Given the description of an element on the screen output the (x, y) to click on. 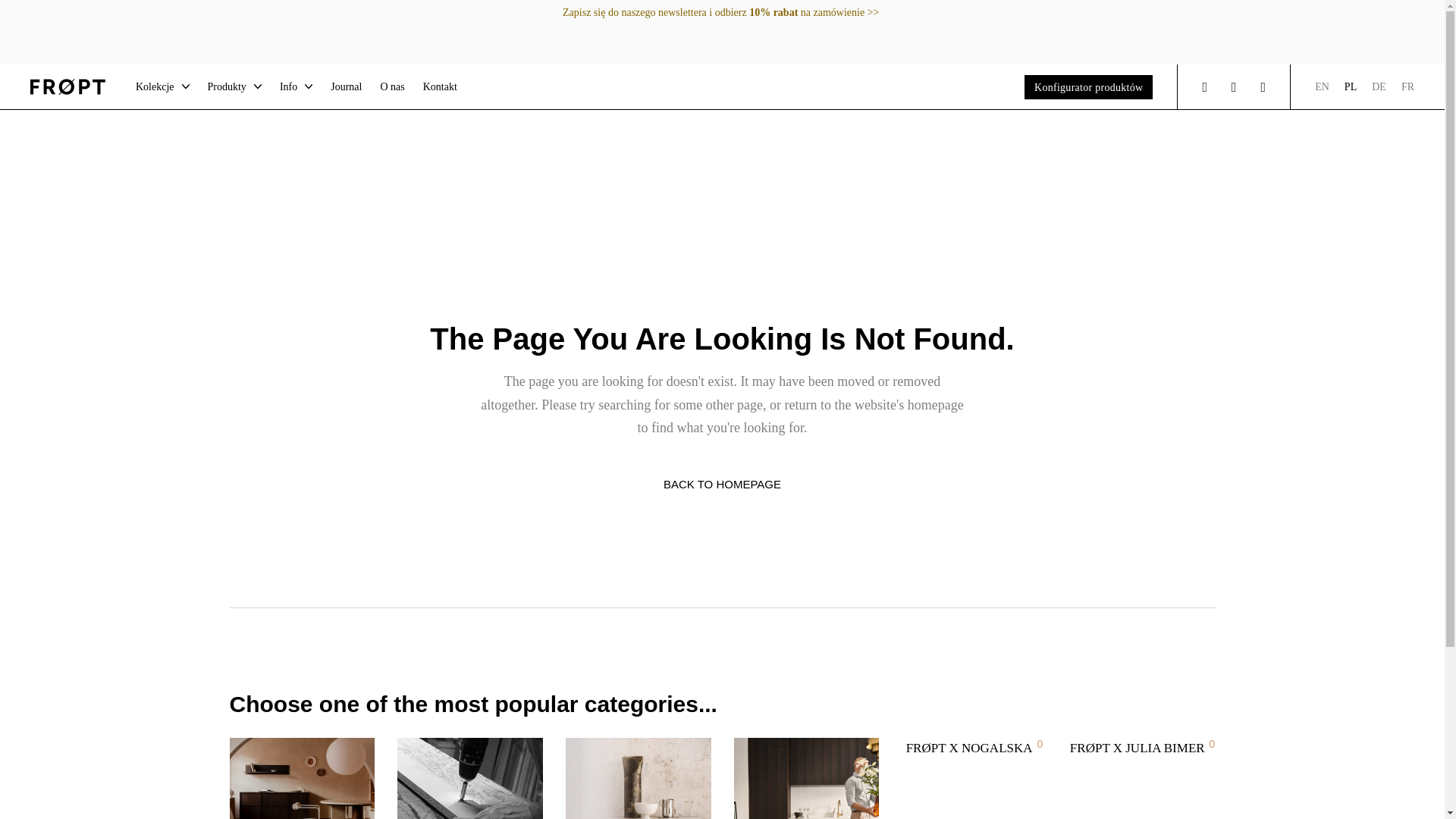
Journal (345, 86)
FR (1406, 86)
DE (1378, 86)
PL (1349, 86)
BACK TO HOMEPAGE (721, 483)
O nas (392, 86)
Kontakt (440, 86)
THE OFFICE0 (302, 778)
PRODUCTION0 (470, 778)
EN (1321, 86)
